Given the description of an element on the screen output the (x, y) to click on. 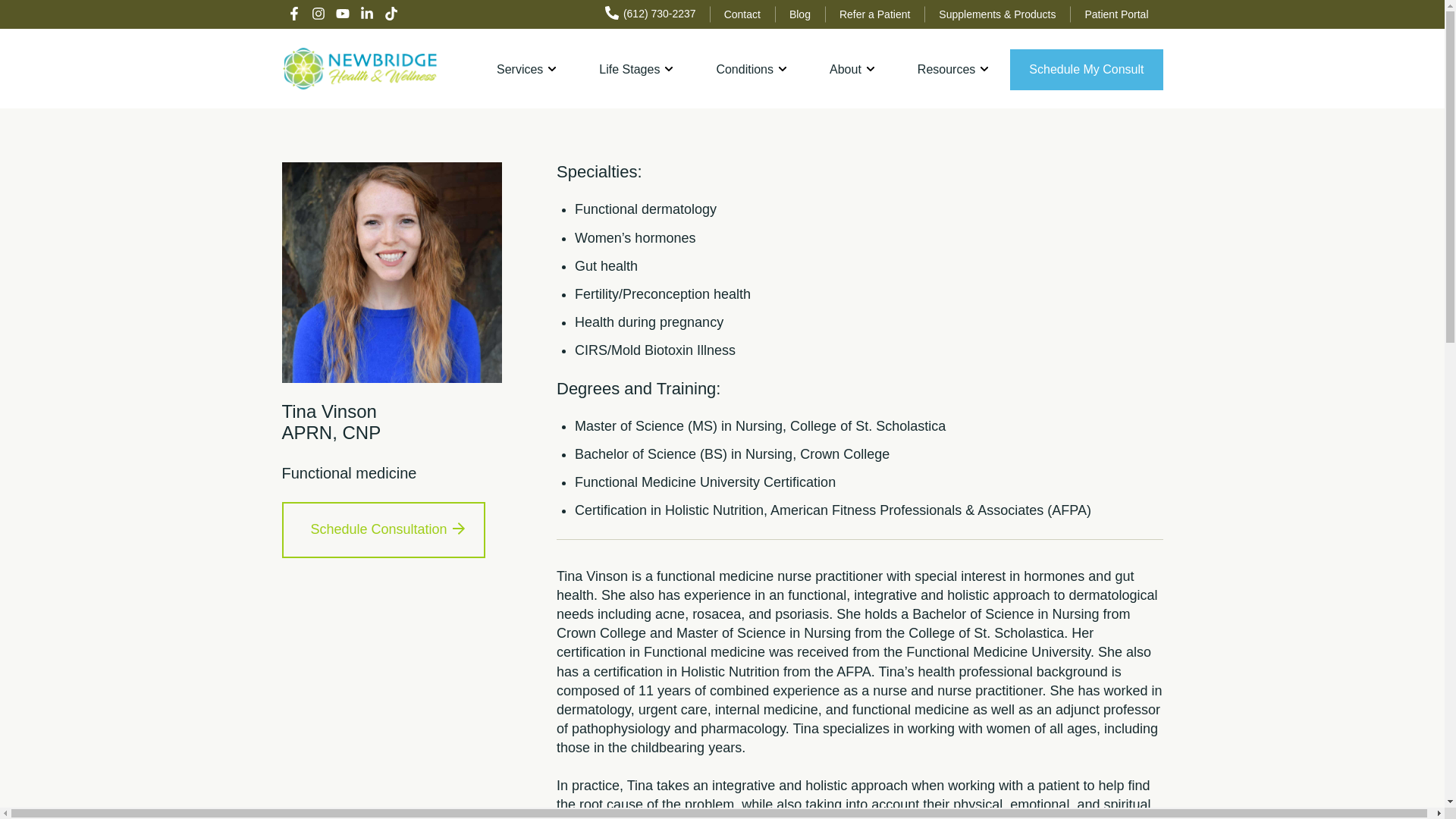
Facebook (293, 14)
Services (527, 69)
Refer a Patient (874, 13)
YouTube (342, 14)
LinkedIn (366, 14)
Instagram (317, 14)
Blog (799, 13)
TikTok (390, 14)
Patient Portal (1115, 13)
Contact (742, 13)
